Given the description of an element on the screen output the (x, y) to click on. 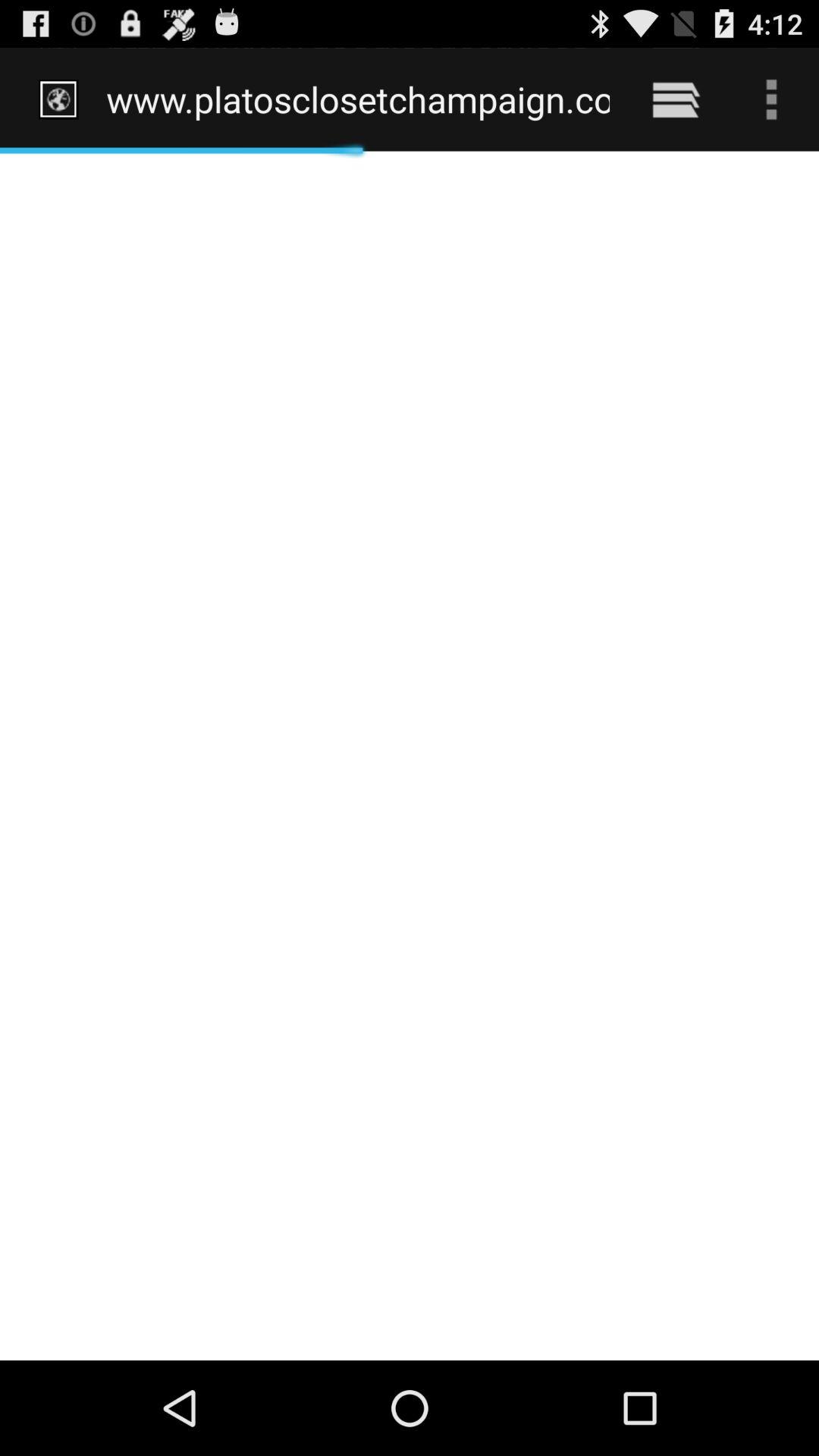
select www.platosclosetchampaign.com (357, 99)
